Given the description of an element on the screen output the (x, y) to click on. 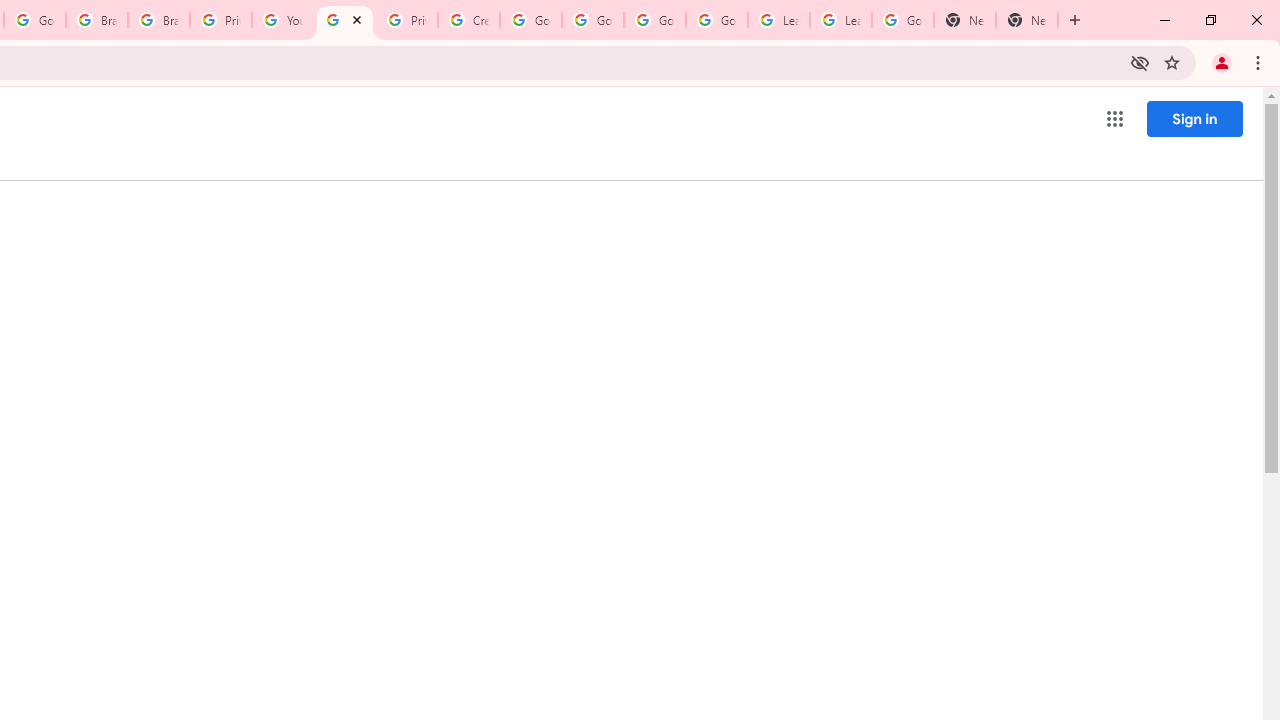
Brand Resource Center (158, 20)
Third-party cookies blocked (1139, 62)
Brand Resource Center (96, 20)
Google Account Help (530, 20)
Create your Google Account (468, 20)
Google Account Help (654, 20)
Google Account (902, 20)
Google Account Help (592, 20)
Google apps (1114, 118)
